Given the description of an element on the screen output the (x, y) to click on. 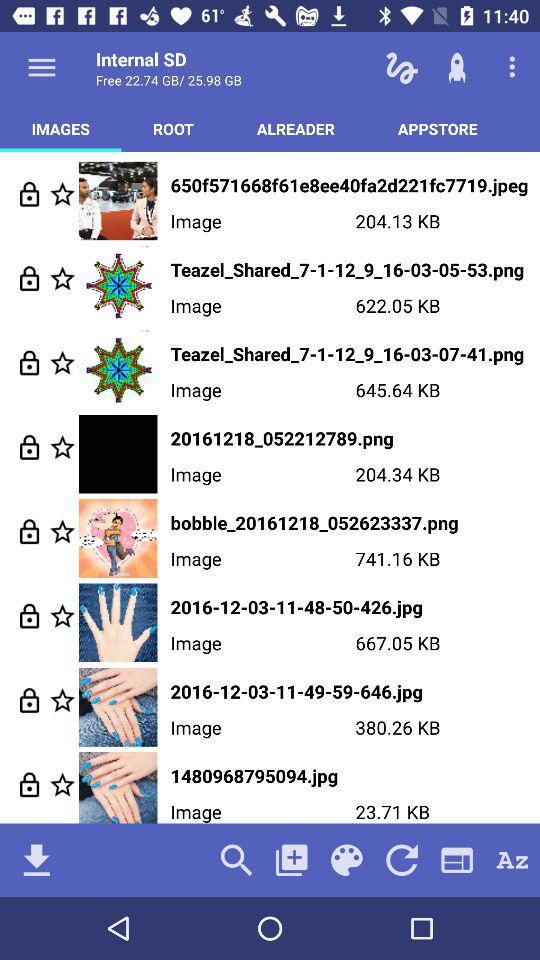
puts as favorites (62, 784)
